Given the description of an element on the screen output the (x, y) to click on. 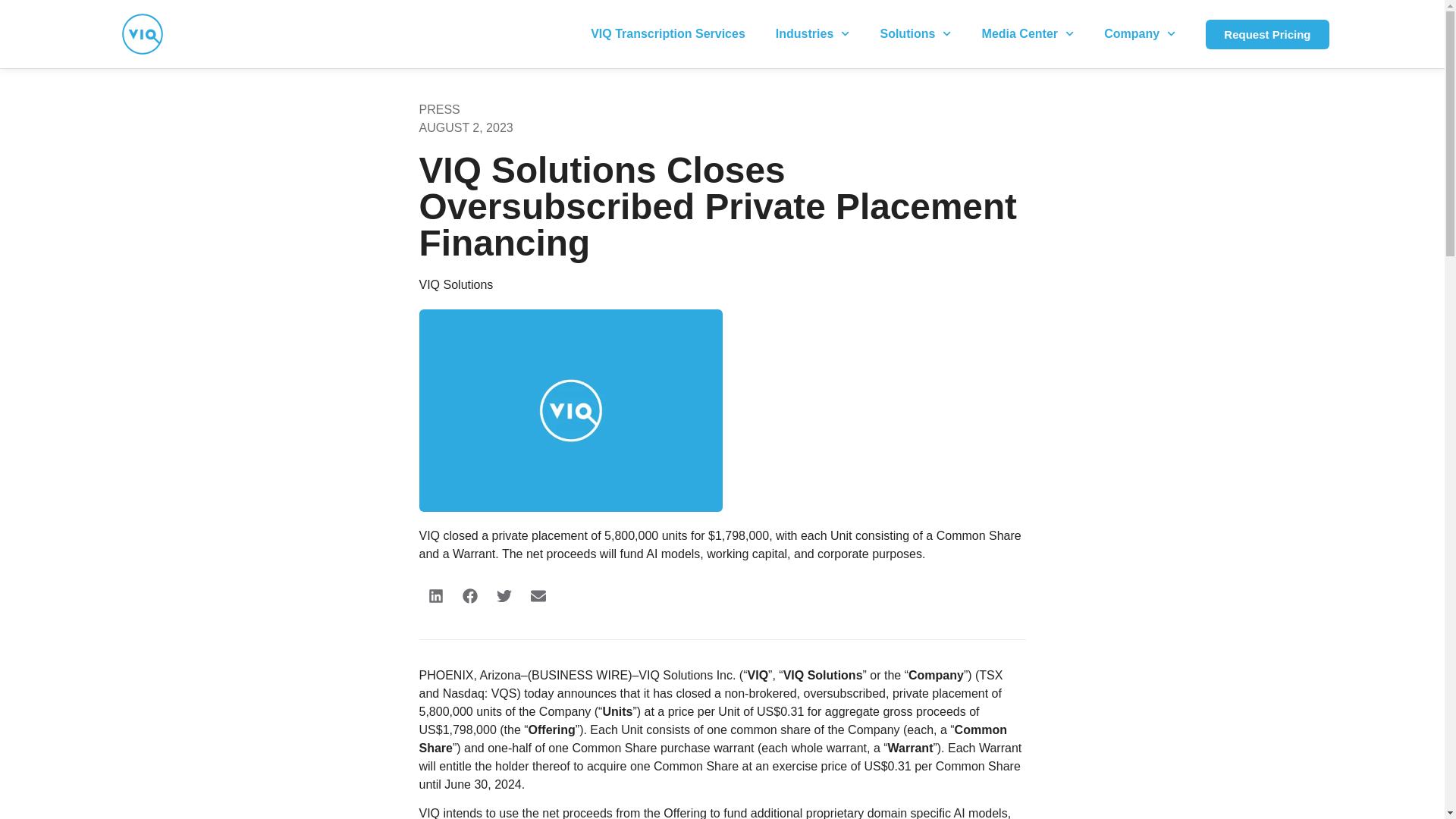
VIQ Transcription Services (667, 33)
Media Center (1027, 33)
Solutions (915, 33)
Company (1140, 33)
Industries (812, 33)
